Given the description of an element on the screen output the (x, y) to click on. 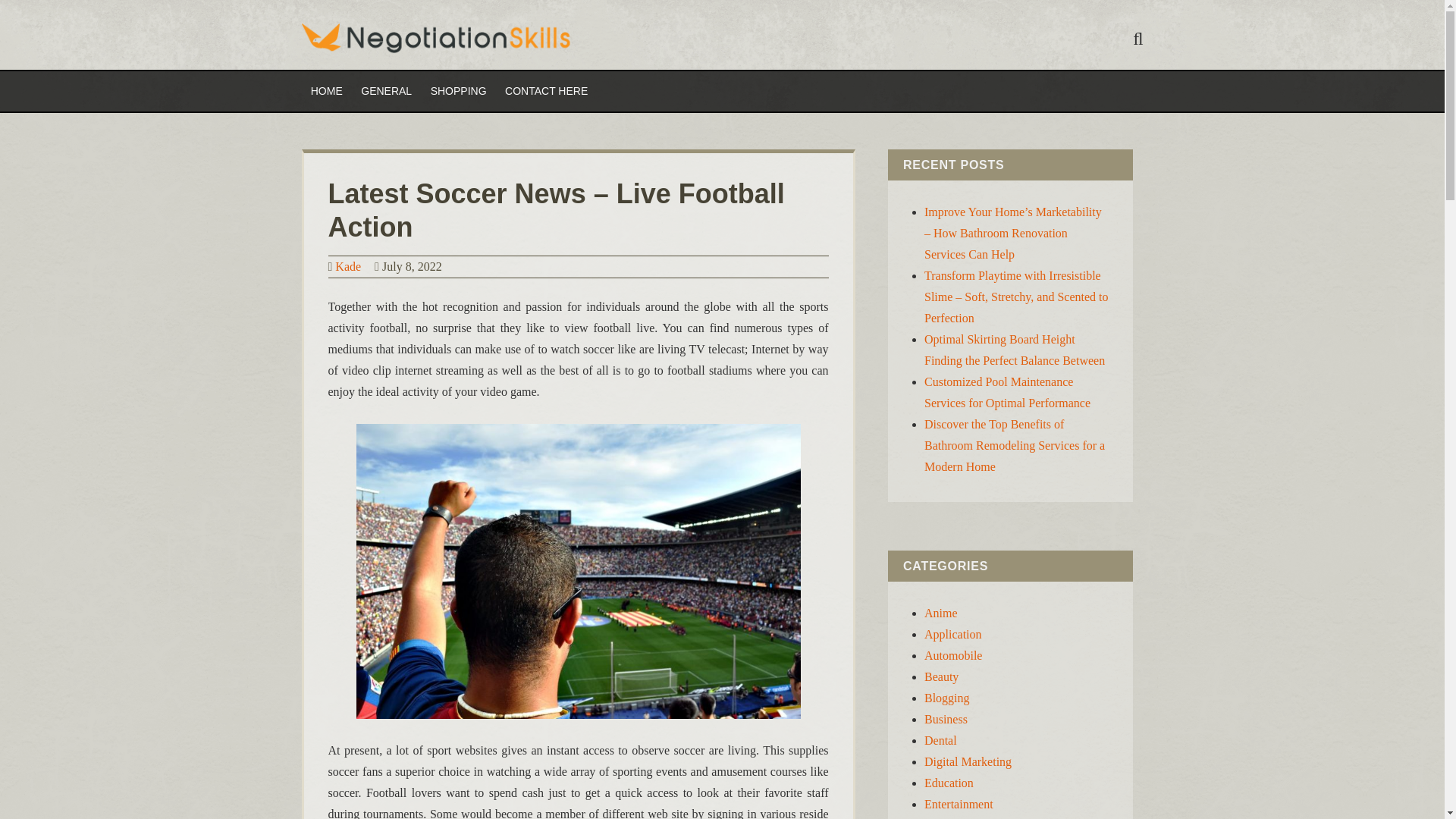
Blogging (946, 697)
SHOPPING (457, 90)
Application (952, 634)
CONTACT HERE (546, 90)
Automobile (952, 655)
Anime (941, 612)
NEGOTIATION SKILLS (469, 75)
Entertainment (958, 803)
GENERAL (386, 90)
Dental (940, 739)
Business (946, 718)
Kade (347, 266)
Education (949, 782)
